Given the description of an element on the screen output the (x, y) to click on. 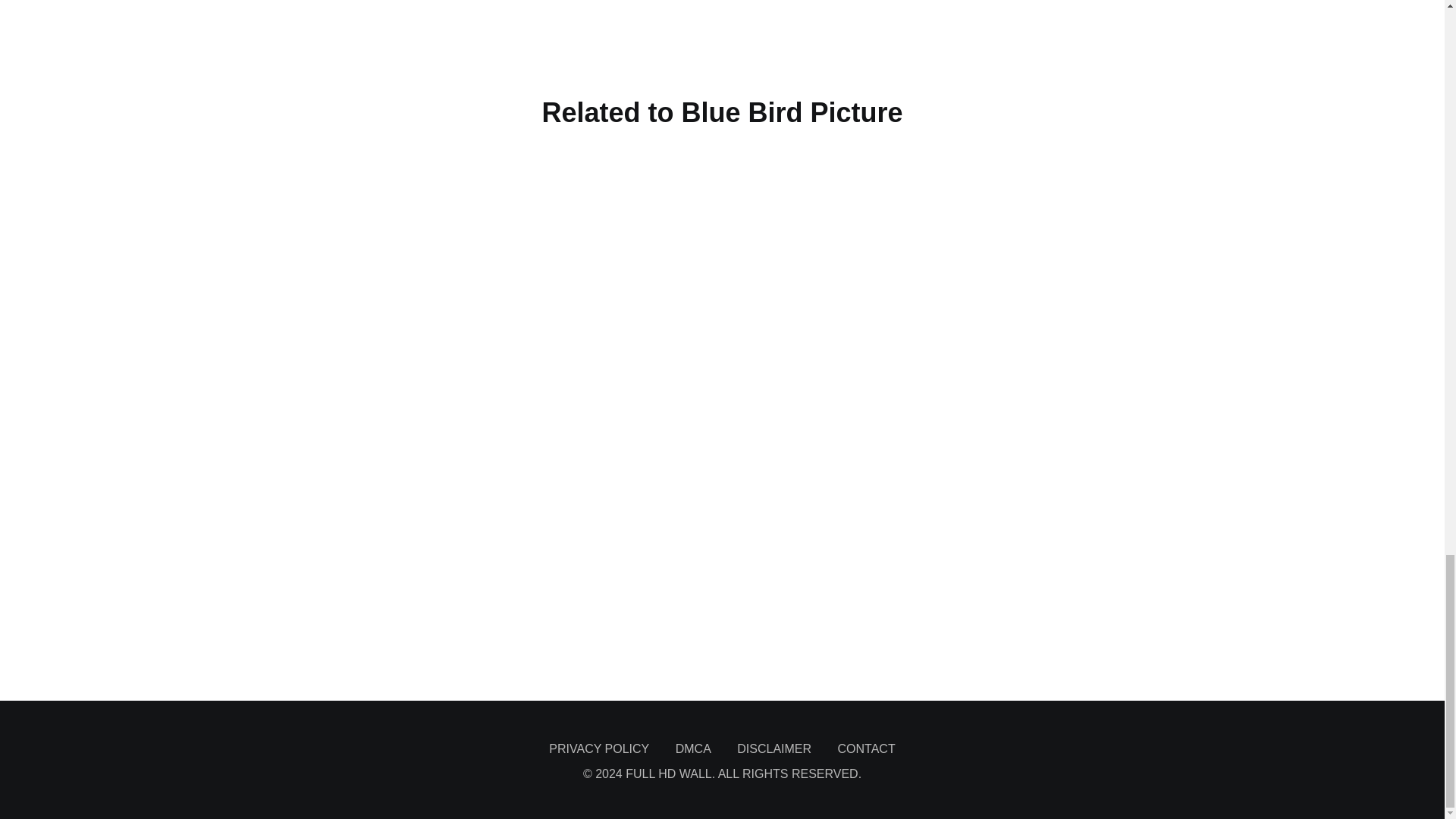
Advertisement (721, 658)
Advertisement (721, 36)
Advertisement (721, 582)
